Given the description of an element on the screen output the (x, y) to click on. 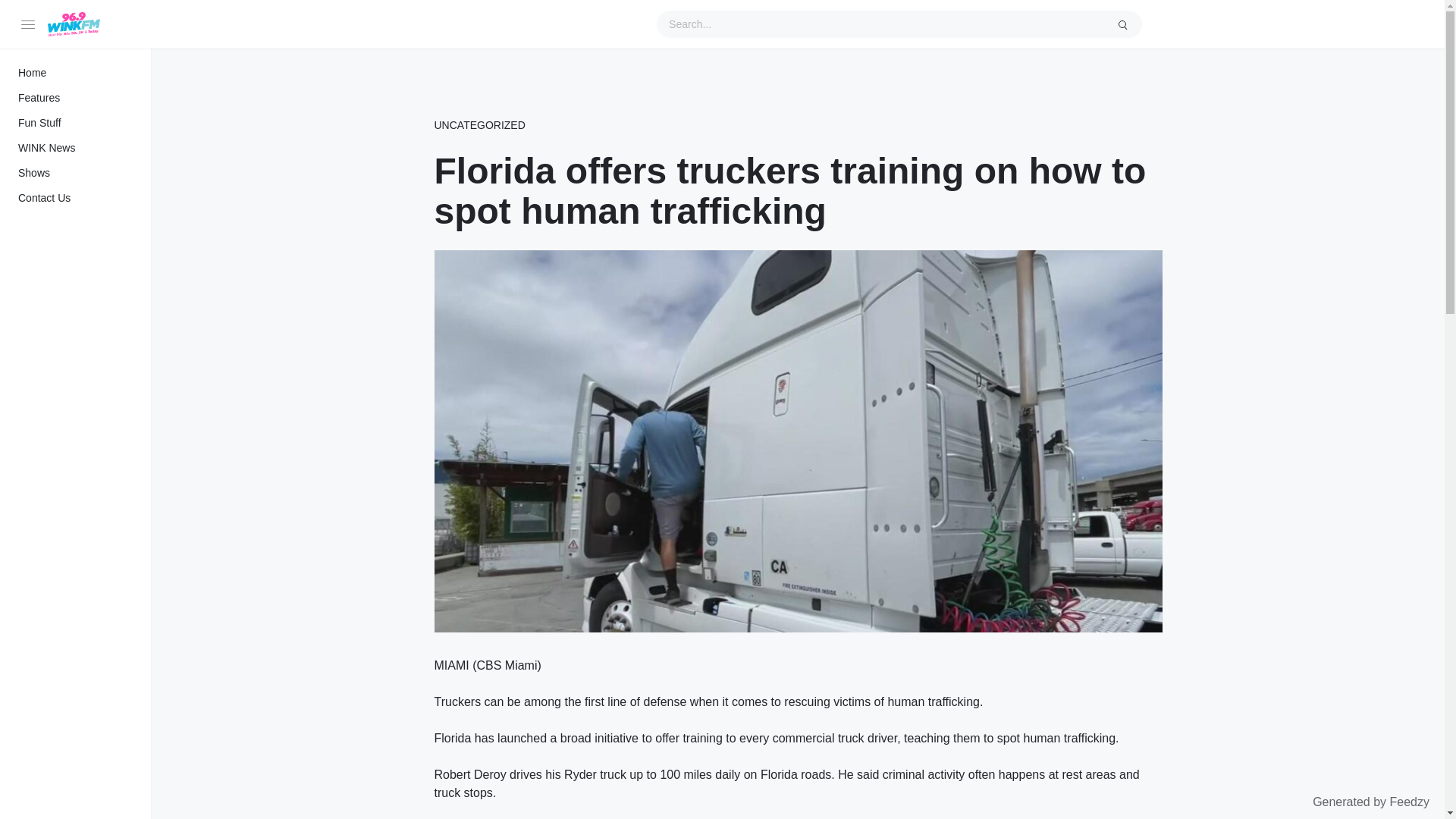
Feedzy (1409, 801)
Shows (75, 172)
Home (75, 72)
Contact Us (75, 197)
Features (75, 97)
WINK News (75, 147)
Fun Stuff (75, 122)
UNCATEGORIZED (478, 125)
